Given the description of an element on the screen output the (x, y) to click on. 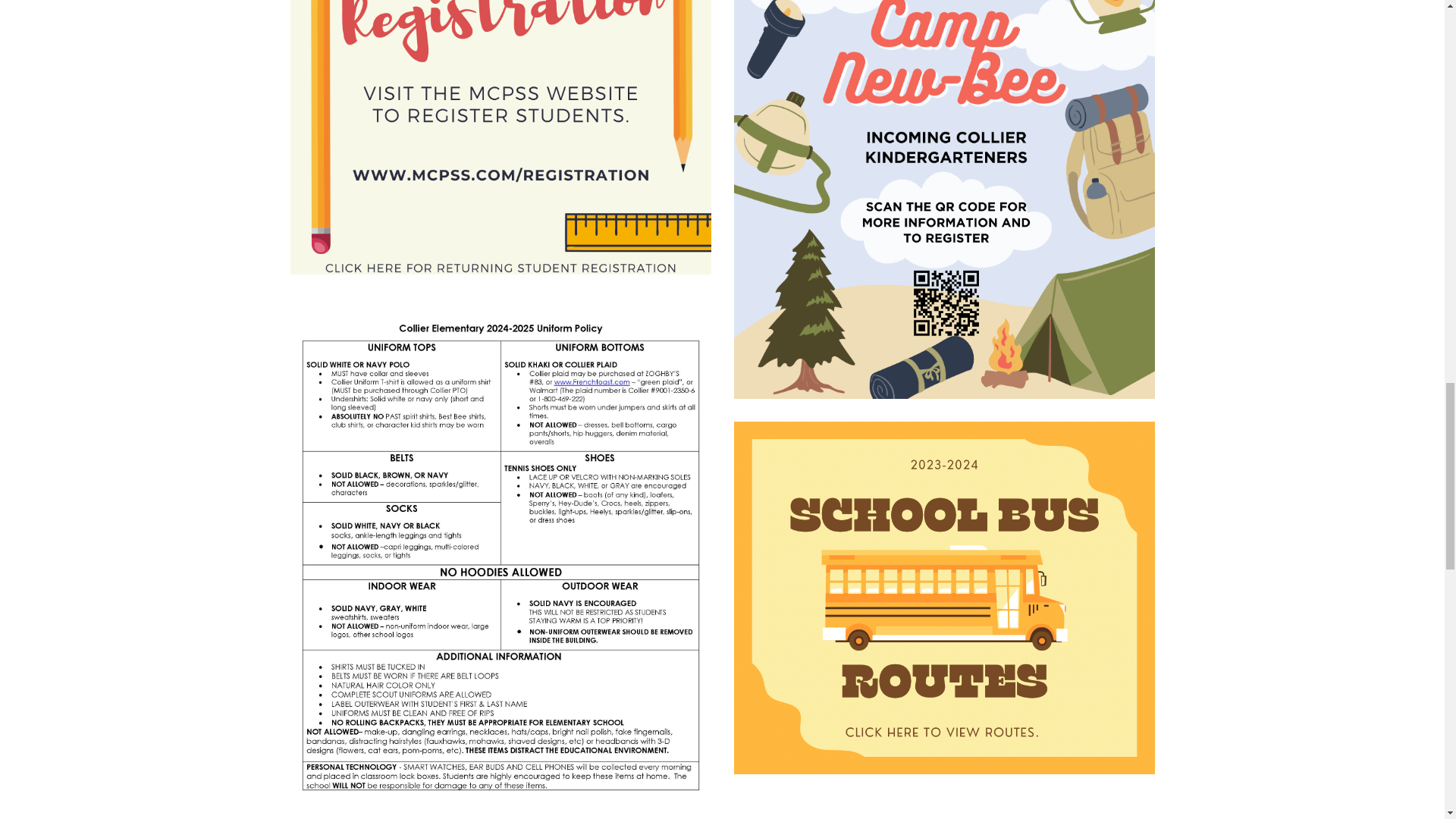
registration (499, 137)
